Given the description of an element on the screen output the (x, y) to click on. 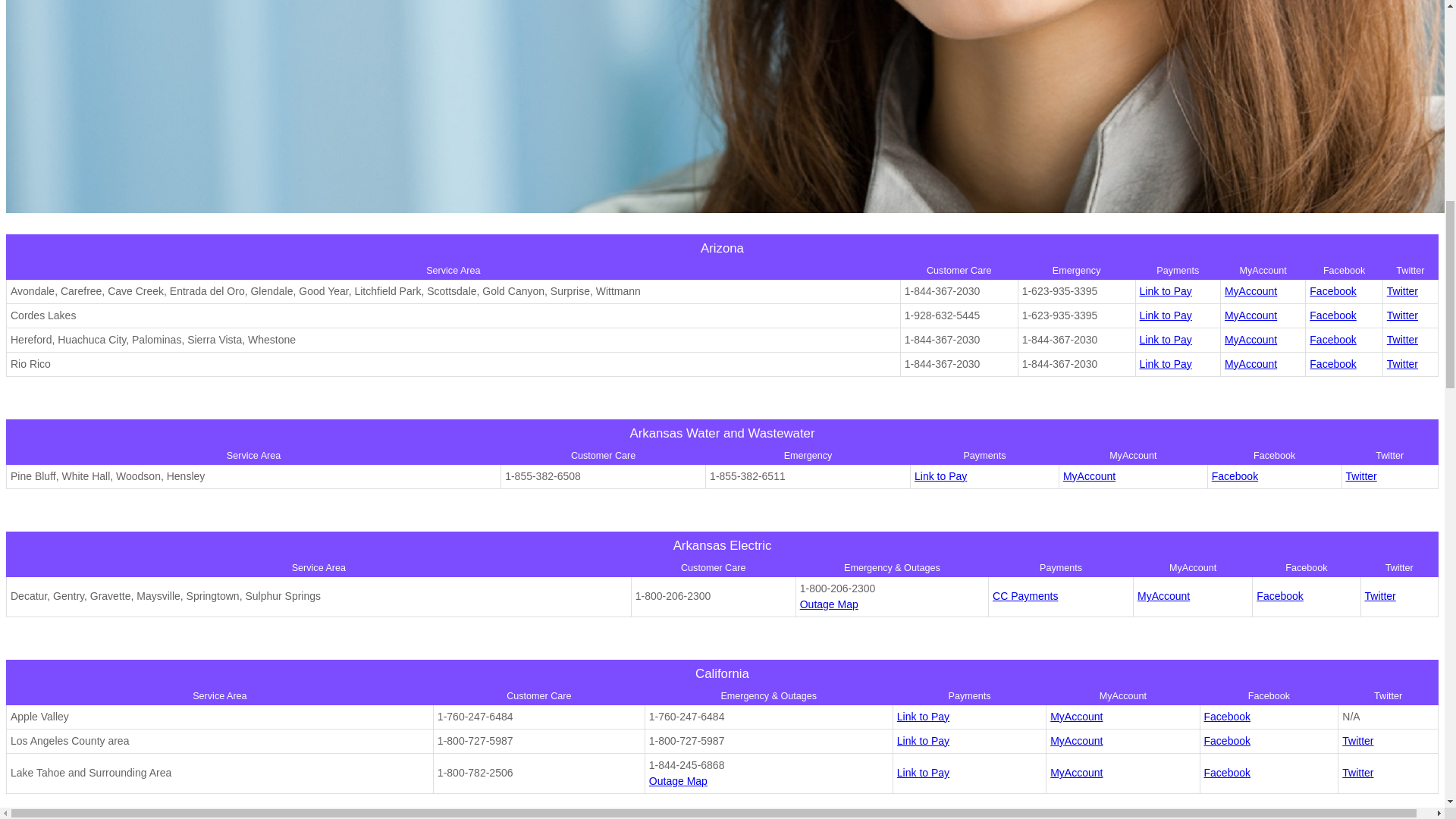
MyAccount (1075, 740)
MyAccount (1250, 315)
Outage Map (829, 604)
Link to Pay (940, 476)
Outage Map (678, 780)
MyAccount (1250, 363)
Link to Pay (922, 740)
MyAccount (1163, 595)
Facebook (1331, 339)
Link to Pay (922, 716)
